Given the description of an element on the screen output the (x, y) to click on. 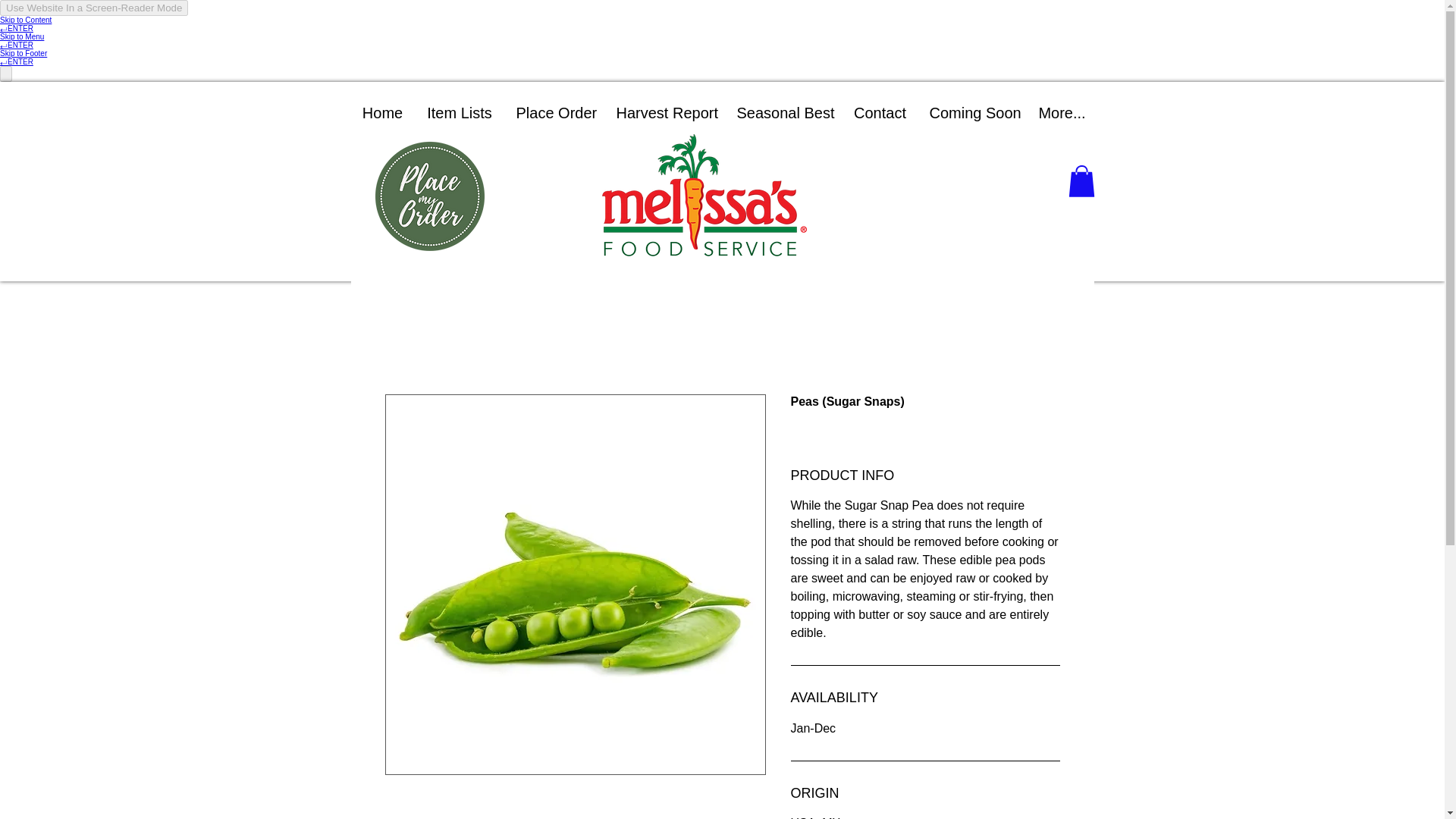
Coming Soon (971, 113)
Place Order (555, 113)
Seasonal Best (783, 113)
Home (381, 113)
Harvest Report (665, 113)
Contact (879, 113)
